Given the description of an element on the screen output the (x, y) to click on. 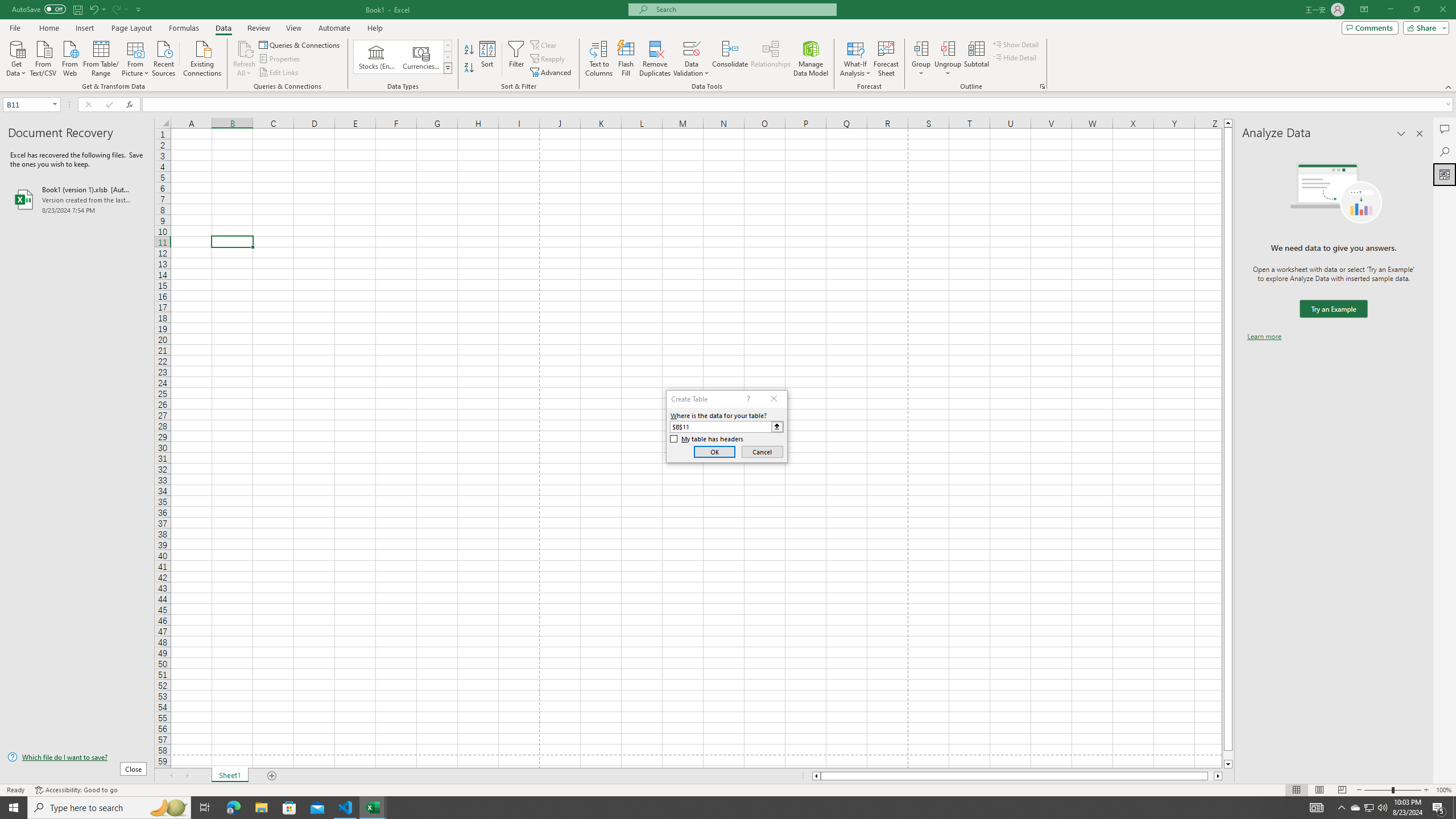
Existing Connections (202, 57)
Subtotal (976, 58)
Reapply (548, 58)
Sort... (487, 58)
Edit Links (279, 72)
